Given the description of an element on the screen output the (x, y) to click on. 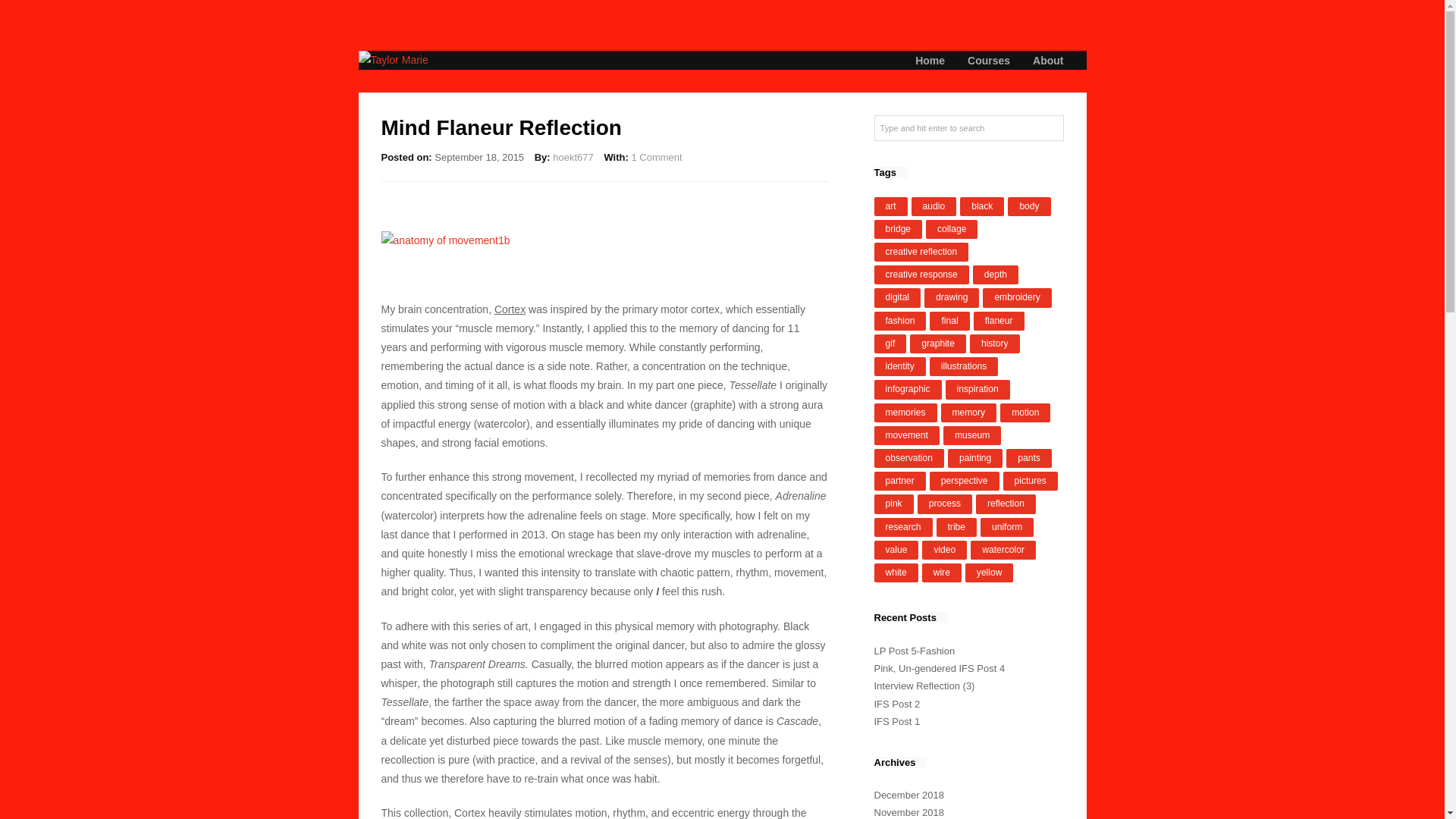
Posts by hoekt677 (573, 156)
Home (930, 60)
Type and hit enter to search (967, 127)
With: 1 Comment (642, 156)
Type and hit enter to search (967, 127)
Courses (989, 60)
Taylor Marie (722, 59)
